Given the description of an element on the screen output the (x, y) to click on. 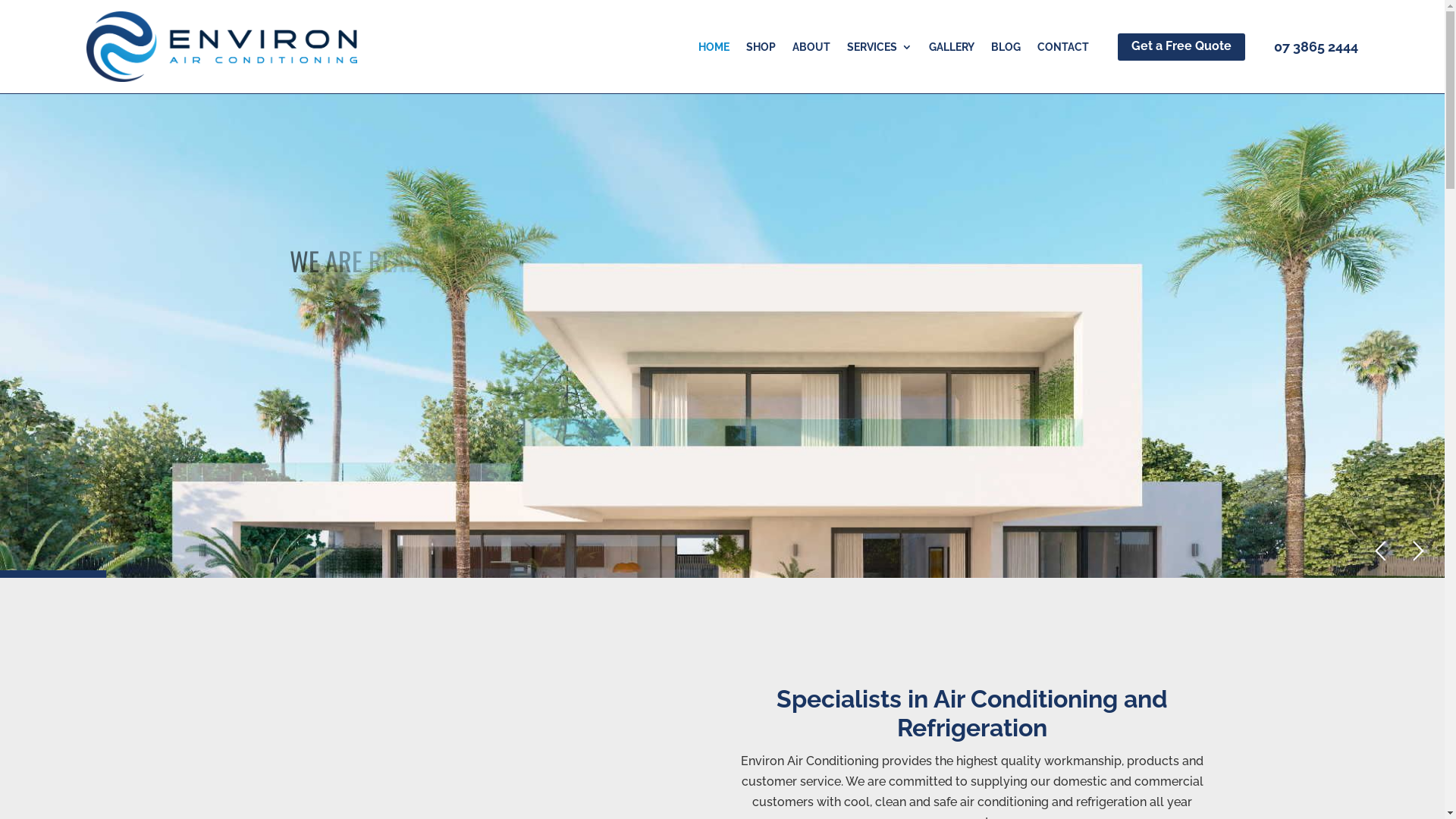
ABOUT Element type: text (811, 49)
Get a Free Quote Element type: text (1181, 46)
SERVICES Element type: text (879, 49)
HOME Element type: text (713, 49)
BLOG Element type: text (1005, 49)
GALLERY Element type: text (951, 49)
07 3865 2444 Element type: text (1316, 46)
SHOP Element type: text (760, 49)
CONTACT US Element type: text (372, 433)
environ-logo Element type: hover (221, 46)
CONTACT Element type: text (1062, 49)
